Given the description of an element on the screen output the (x, y) to click on. 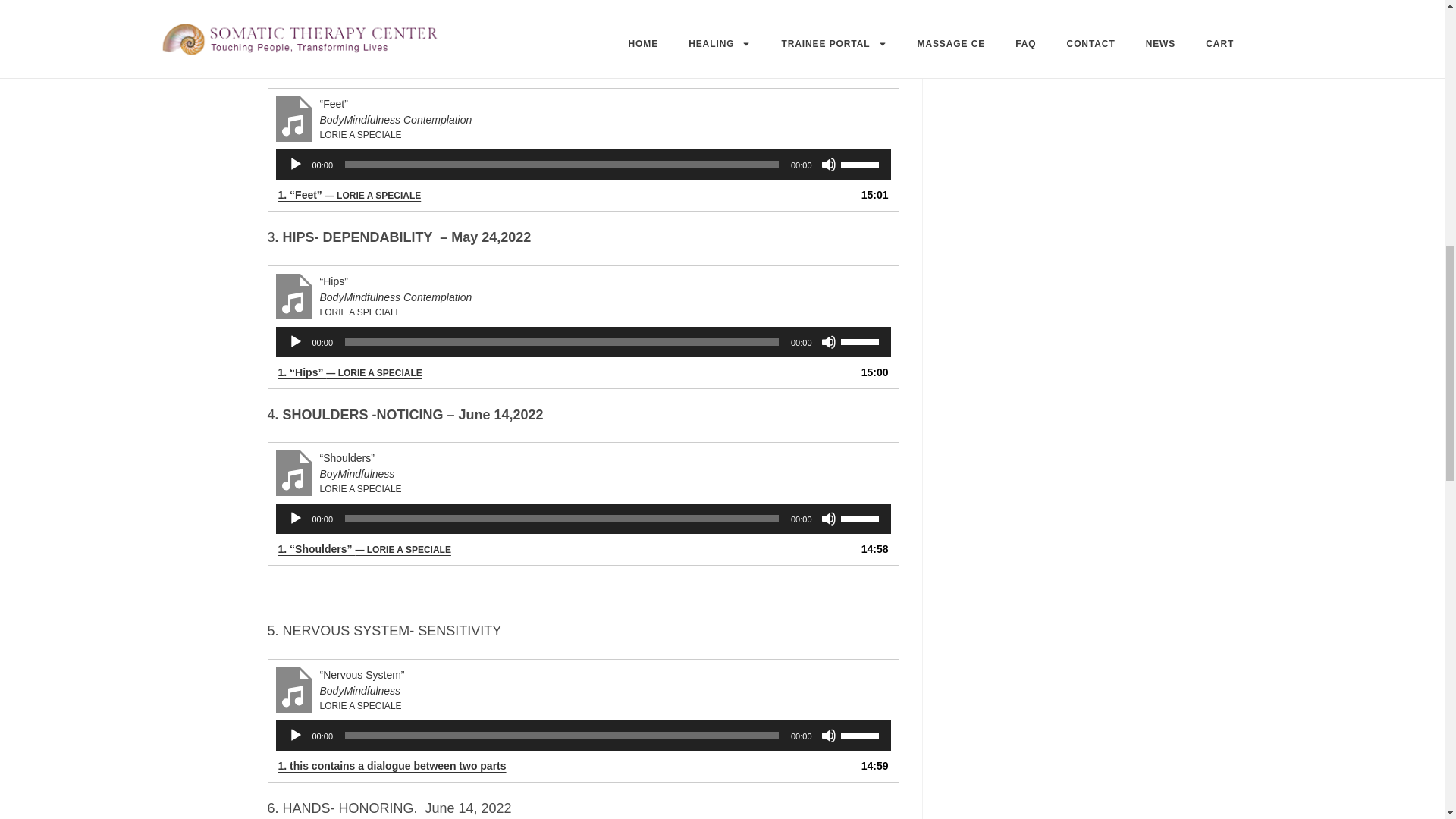
Play (295, 518)
Play (295, 341)
Mute (828, 518)
Mute (828, 164)
Play (295, 735)
Mute (828, 735)
Play (295, 164)
Mute (828, 341)
